Given the description of an element on the screen output the (x, y) to click on. 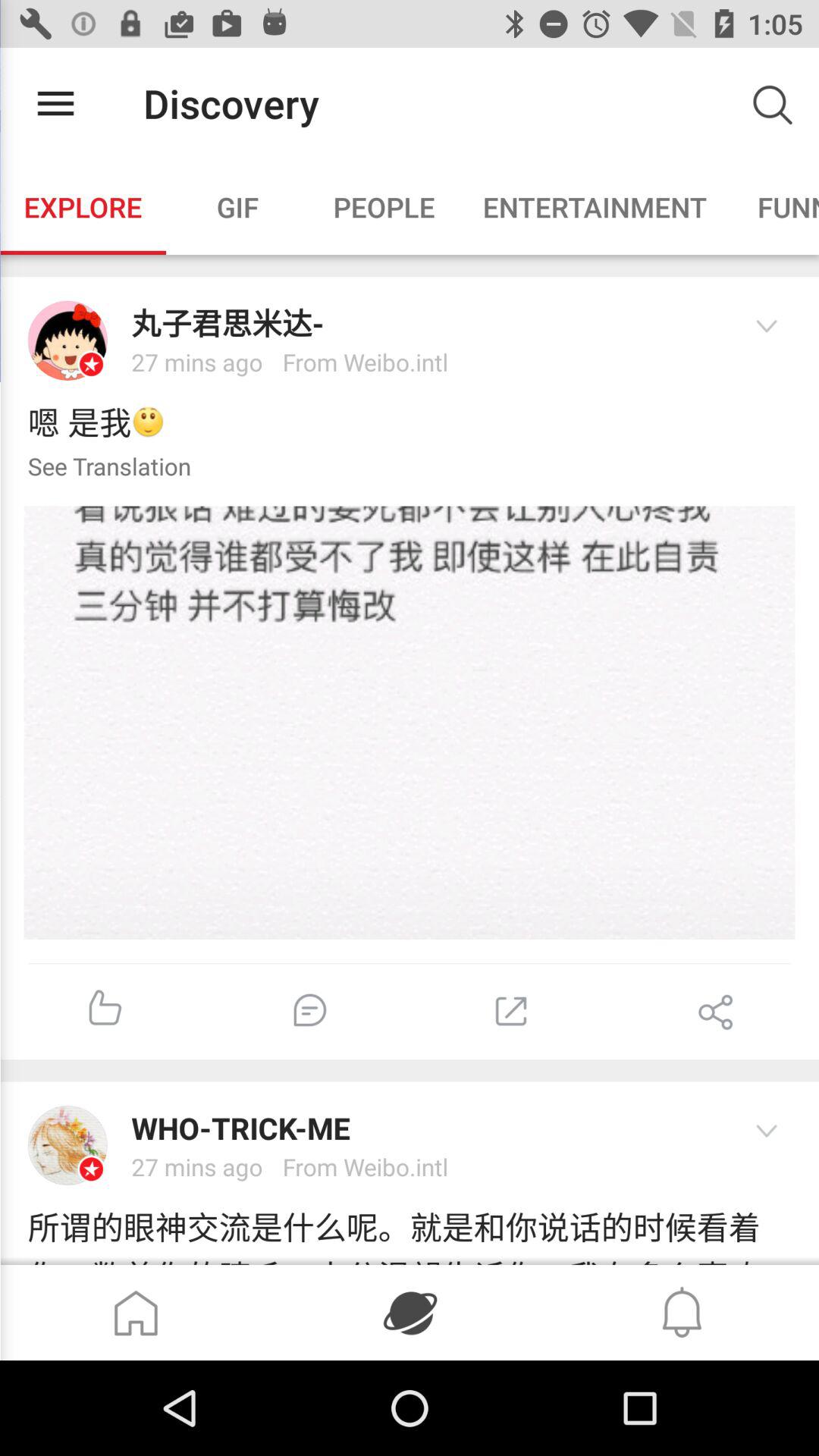
turn off the icon above the explore (55, 103)
